Given the description of an element on the screen output the (x, y) to click on. 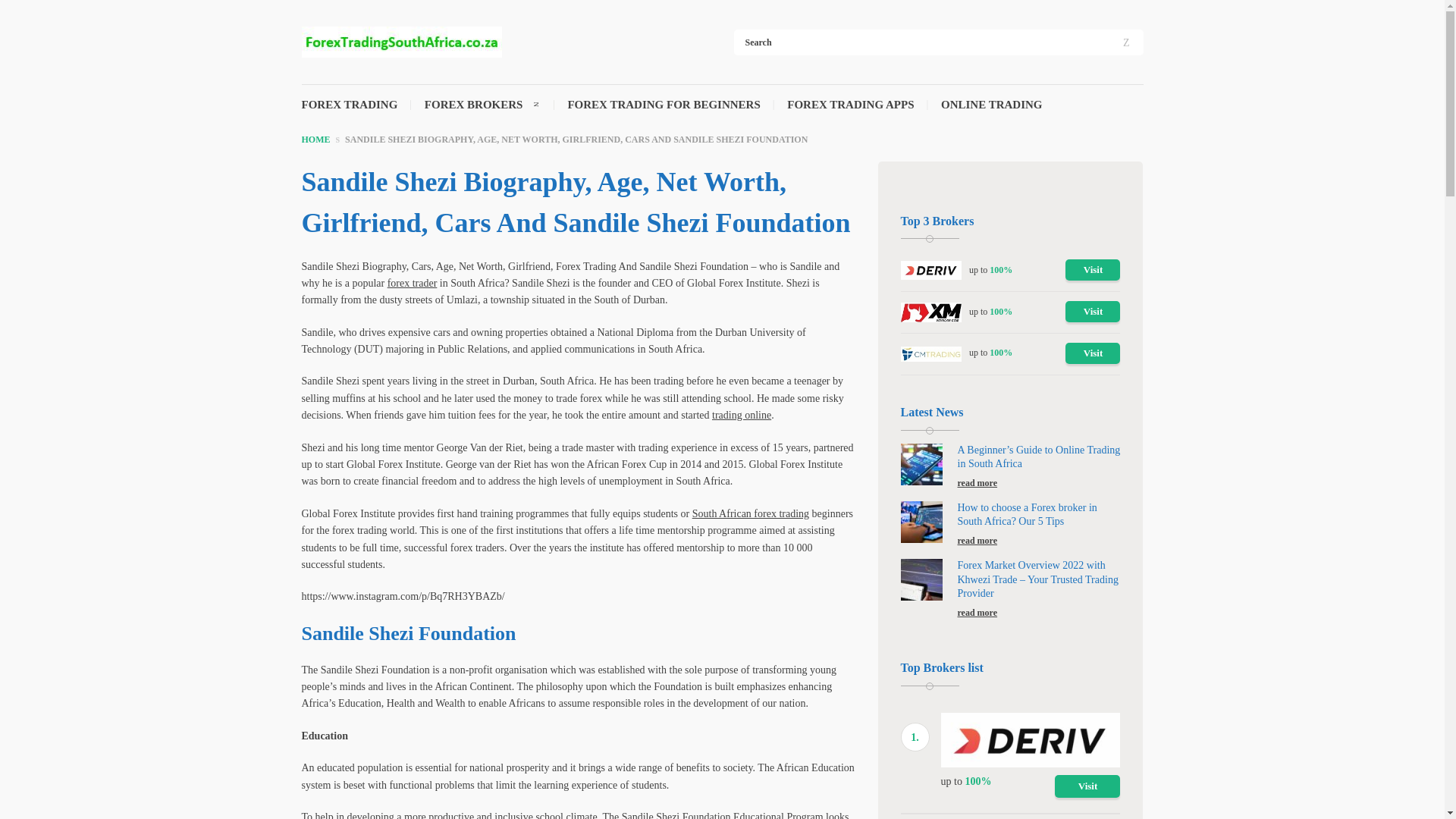
South African forex trading (751, 513)
Visit (1092, 311)
Home (315, 138)
trading online (741, 414)
FOREX TRADING (349, 110)
FOREX TRADING APPS (850, 110)
FOREX BROKERS (473, 110)
Visit (1092, 269)
Visit (1092, 353)
ONLINE TRADING (991, 110)
HOME (315, 138)
forex trader (412, 283)
FOREX TRADING FOR BEGINNERS (663, 110)
